Given the description of an element on the screen output the (x, y) to click on. 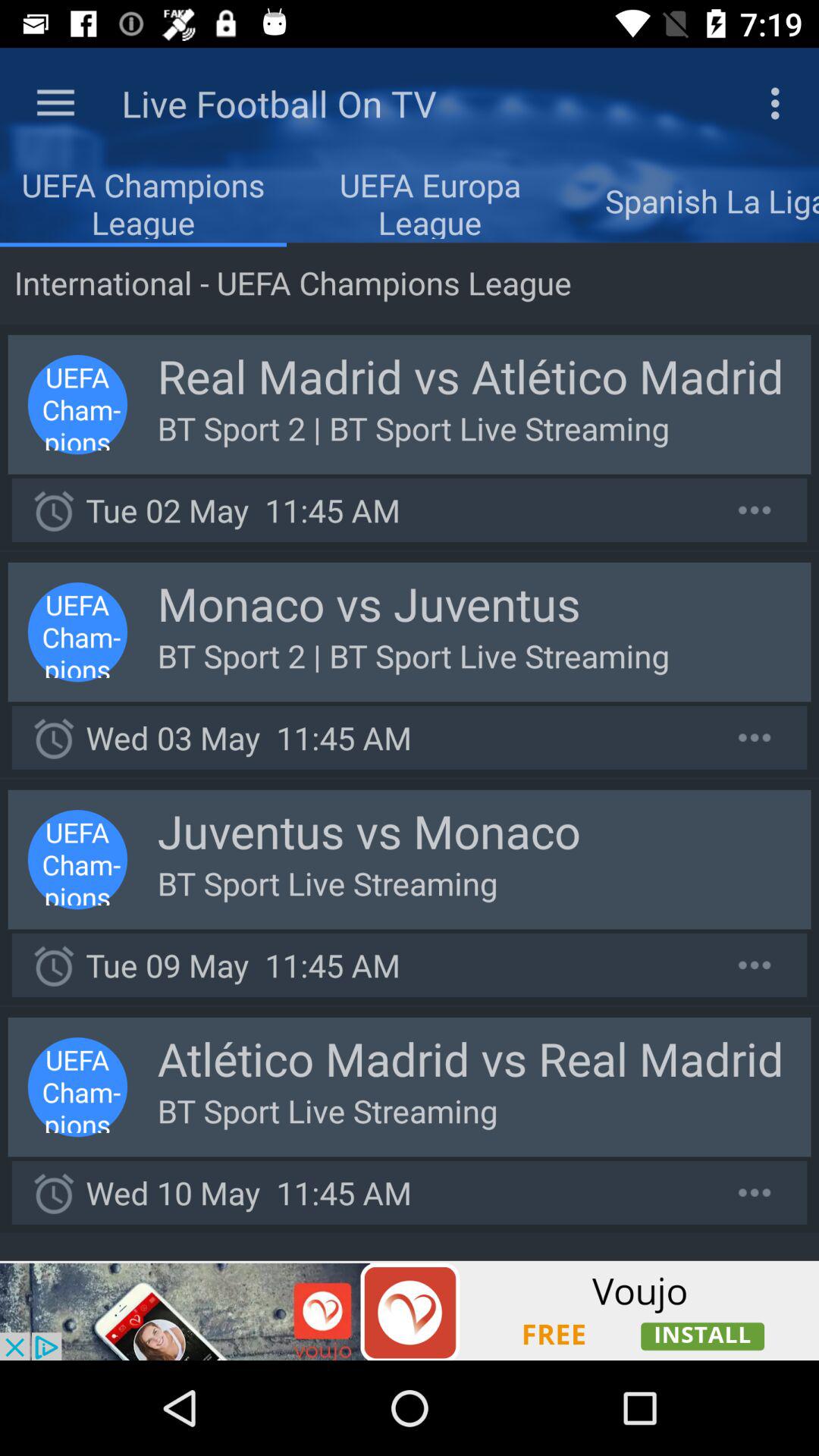
advertising advertisements (409, 1310)
